Given the description of an element on the screen output the (x, y) to click on. 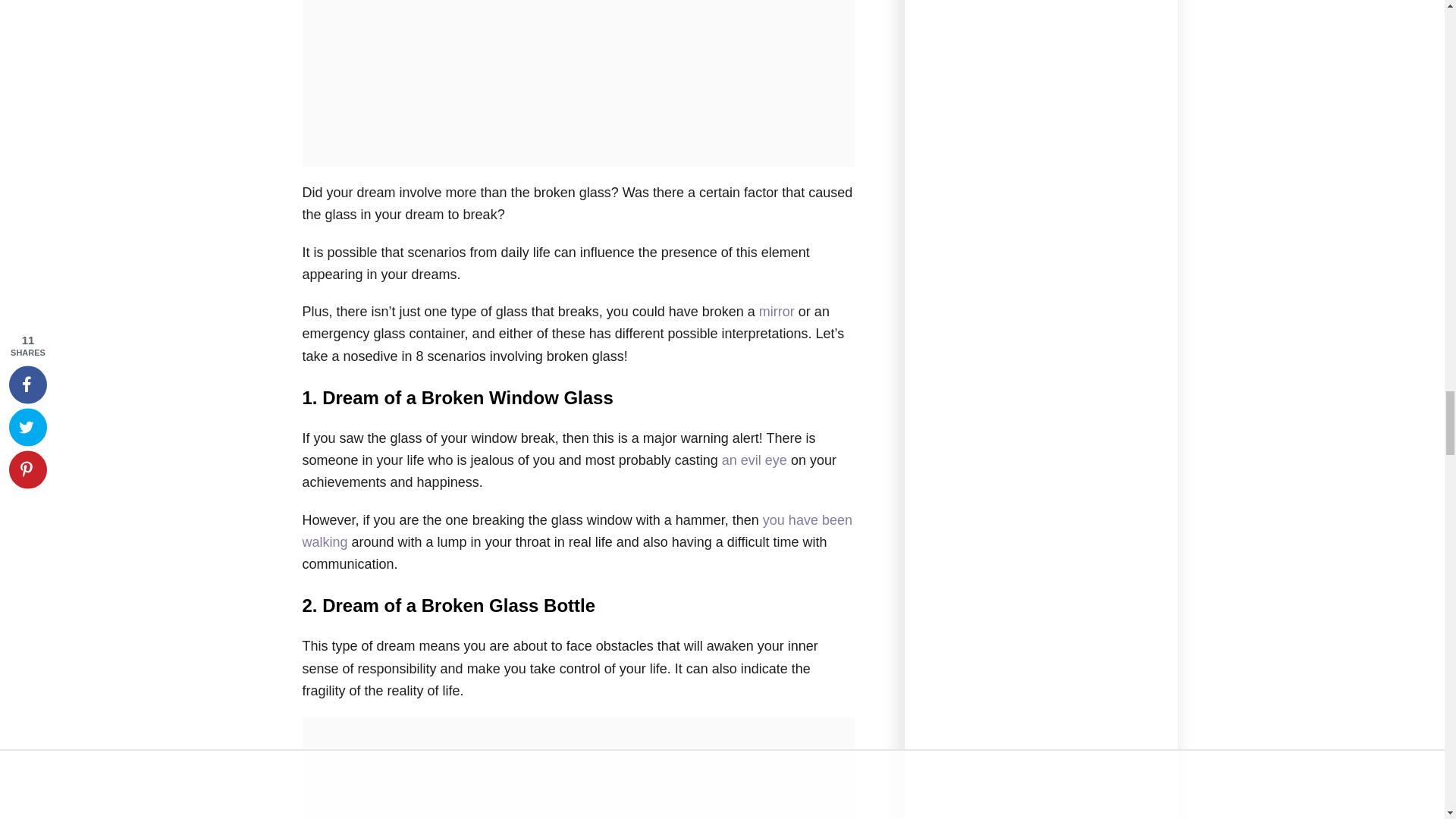
you have been walking (576, 530)
an evil eye (754, 459)
mirror (776, 311)
